Given the description of an element on the screen output the (x, y) to click on. 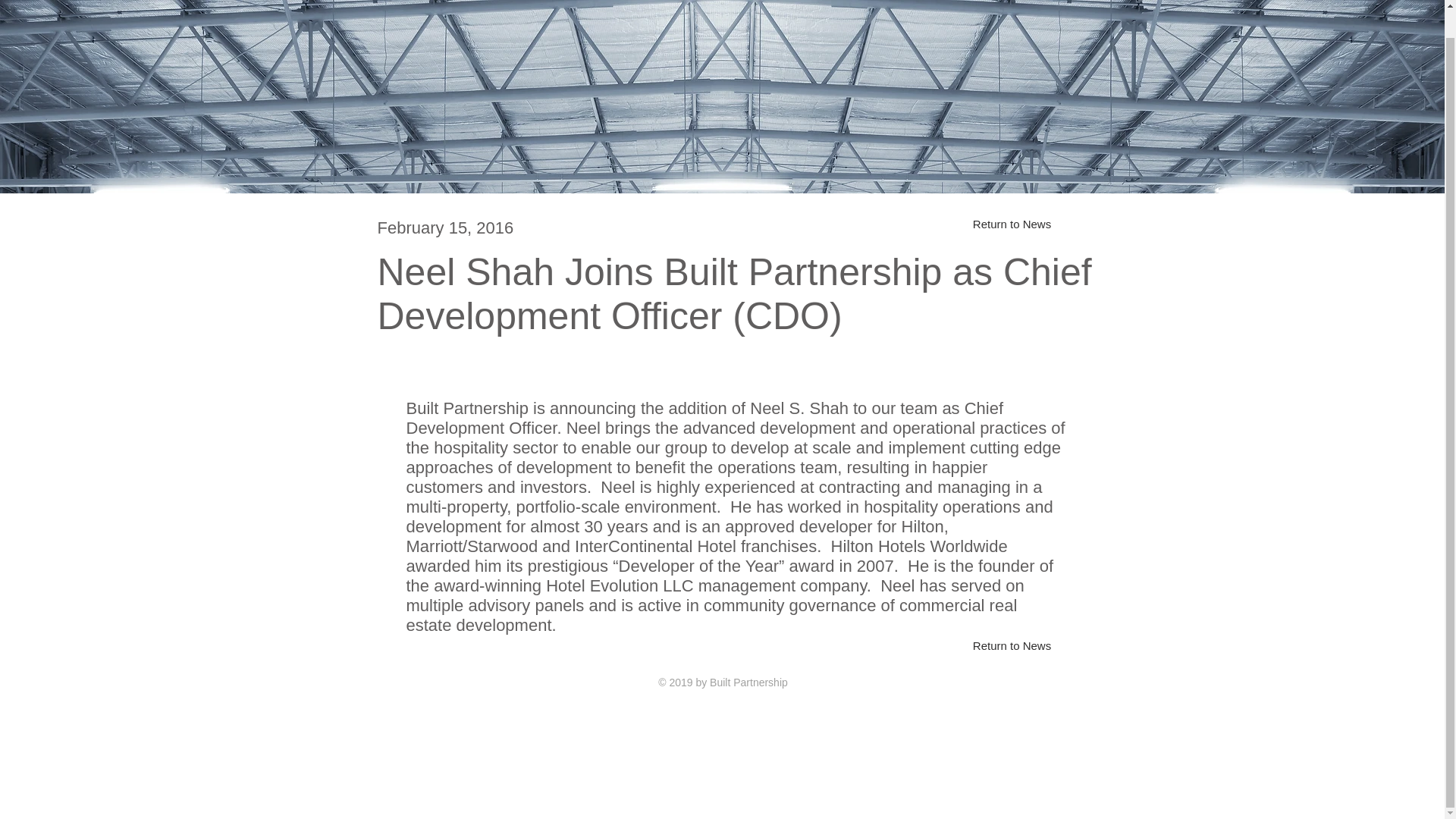
Return to News (1011, 644)
Return to News (1011, 223)
